Given the description of an element on the screen output the (x, y) to click on. 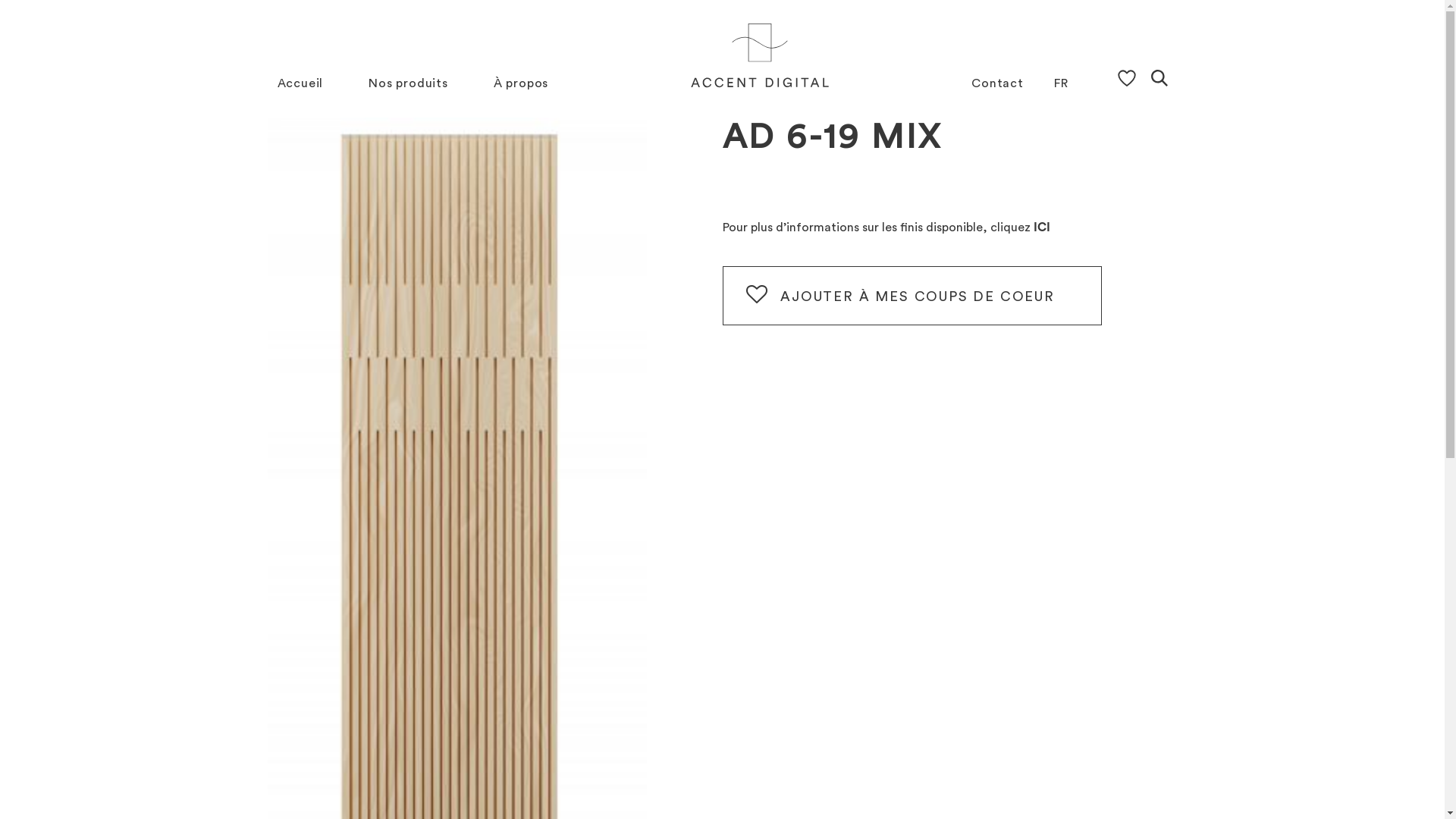
Contact Element type: text (997, 83)
Nos produits Element type: text (408, 83)
 ICI Element type: text (1039, 227)
Accueil Element type: text (300, 83)
FR Element type: text (1061, 83)
